Given the description of an element on the screen output the (x, y) to click on. 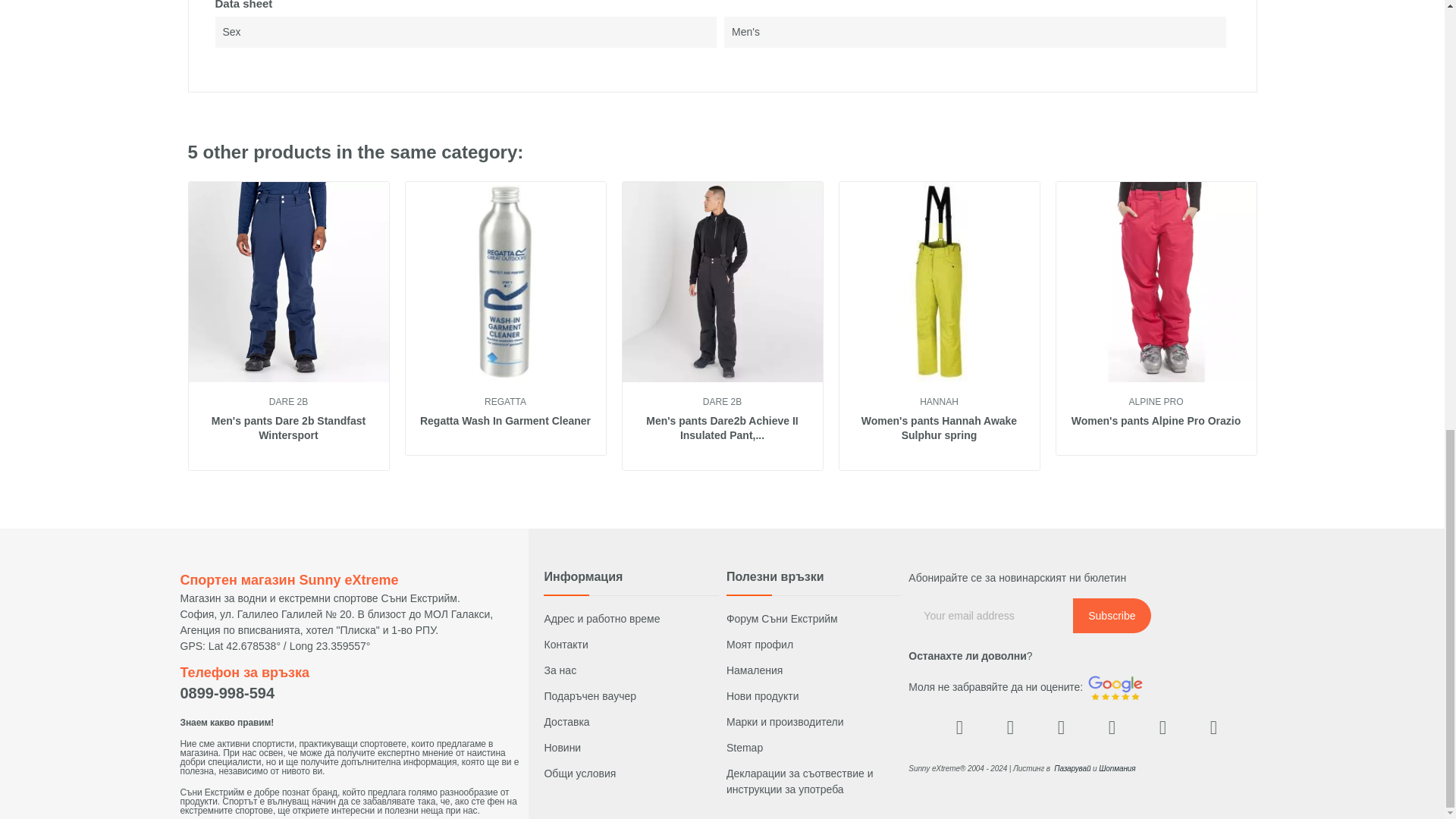
Men's pants Dare2b Achieve II Insulated Pant, Black (721, 428)
Regatta Wash In Garment Cleaner (505, 421)
Women's pants Hannah Awake Sulphur spring (938, 428)
Men's pants Dare 2b Standfast Wintersport (288, 428)
